Given the description of an element on the screen output the (x, y) to click on. 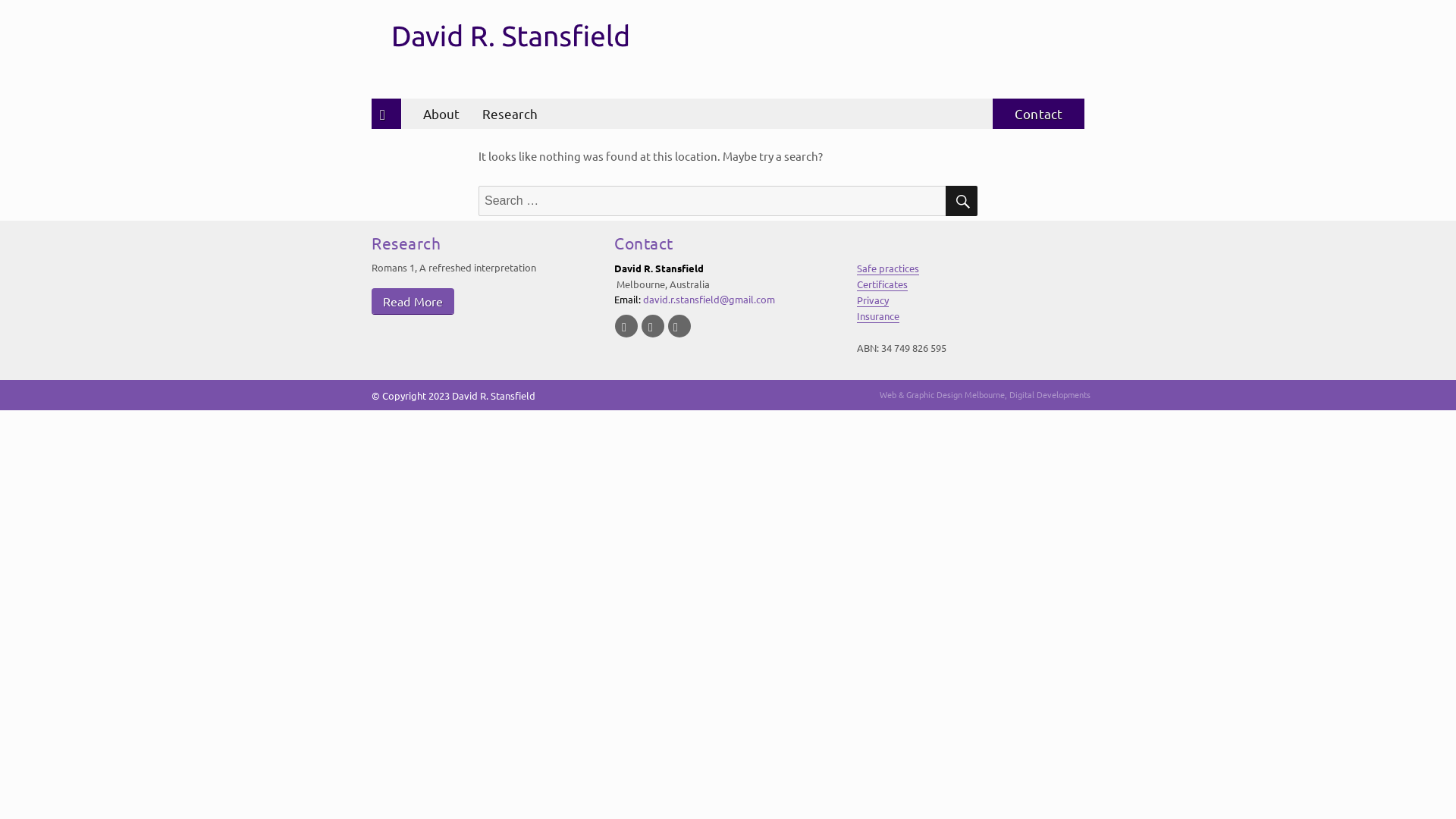
SEARCH Element type: text (961, 200)
About Element type: text (436, 113)
Privacy Element type: text (872, 299)
Contact Element type: text (1038, 113)
Contact Element type: text (643, 242)
David R. Stansfield Element type: text (493, 395)
david.r.stansfield@gmail.com Element type: text (709, 298)
Safe practices Element type: text (887, 267)
Digital Developments Element type: text (1049, 394)
Certificates Element type: text (881, 283)
Home Element type: text (381, 113)
Insurance Element type: text (877, 315)
Research
Romans 1, A refreshed interpretation Element type: text (485, 274)
Research Element type: text (509, 113)
